Given the description of an element on the screen output the (x, y) to click on. 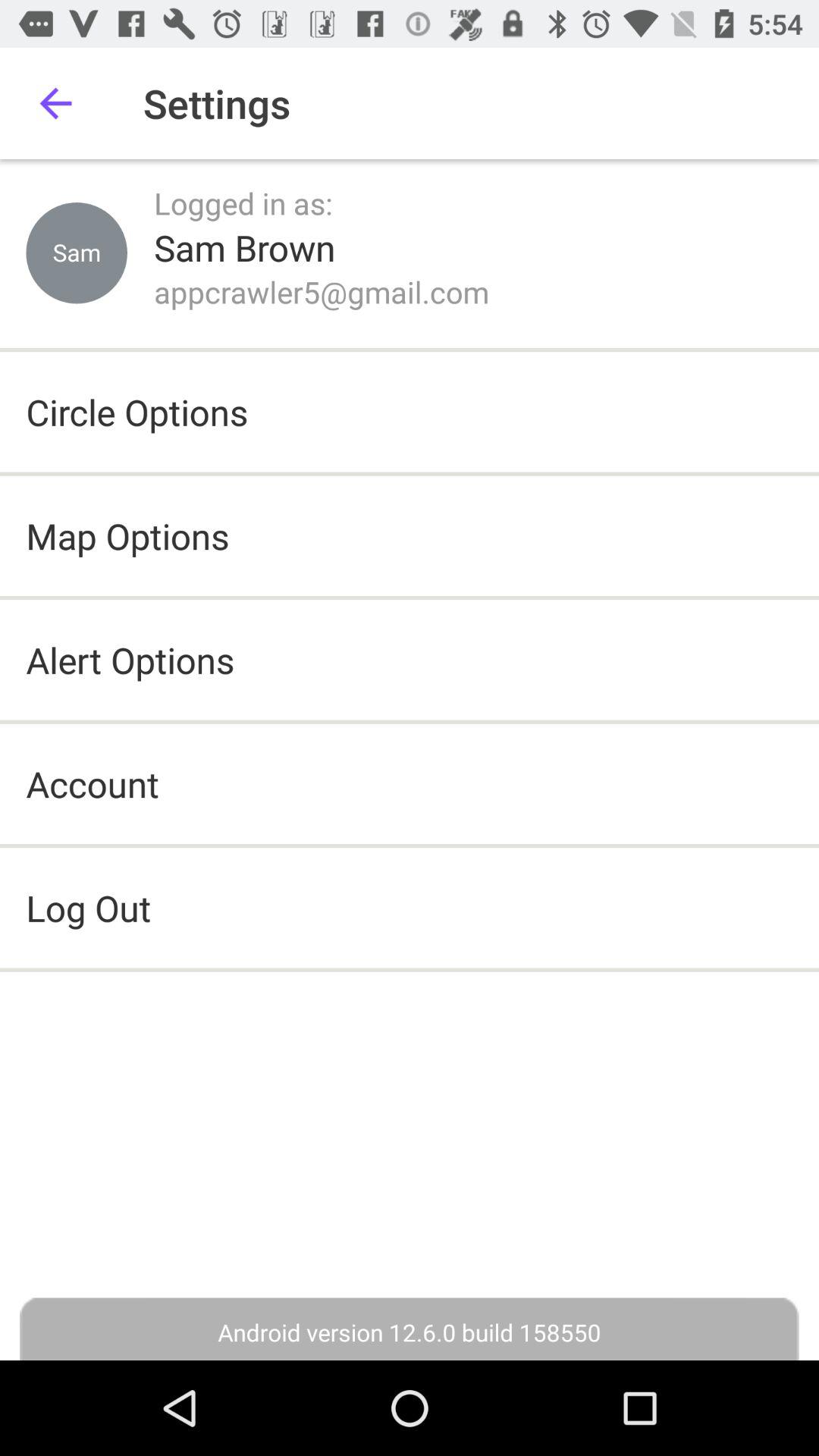
swipe until logged in as: icon (243, 203)
